Given the description of an element on the screen output the (x, y) to click on. 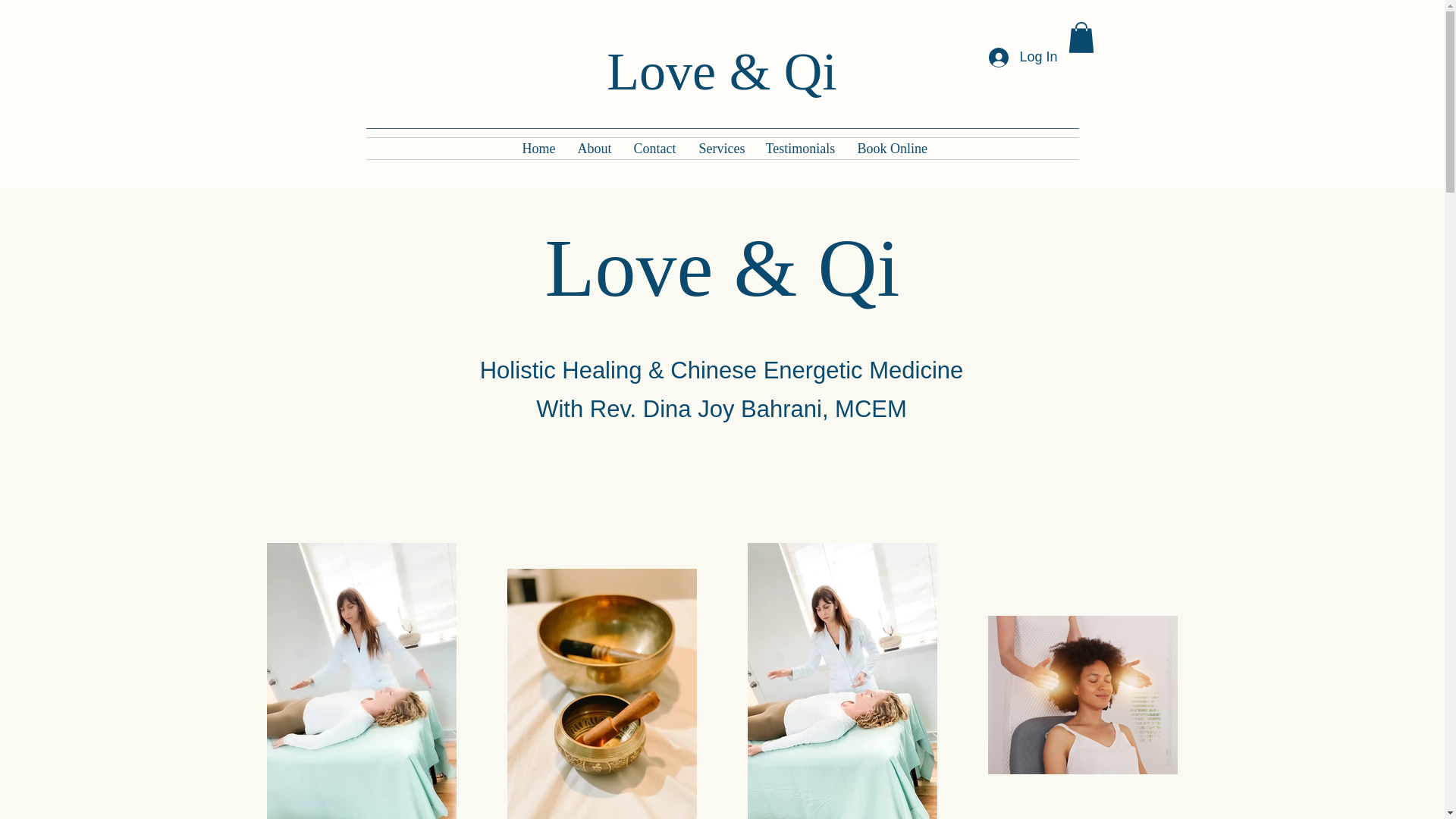
Services (720, 148)
Home (538, 148)
Testimonials (799, 148)
About (593, 148)
Contact (654, 148)
Book Online (889, 148)
Log In (1022, 57)
